Given the description of an element on the screen output the (x, y) to click on. 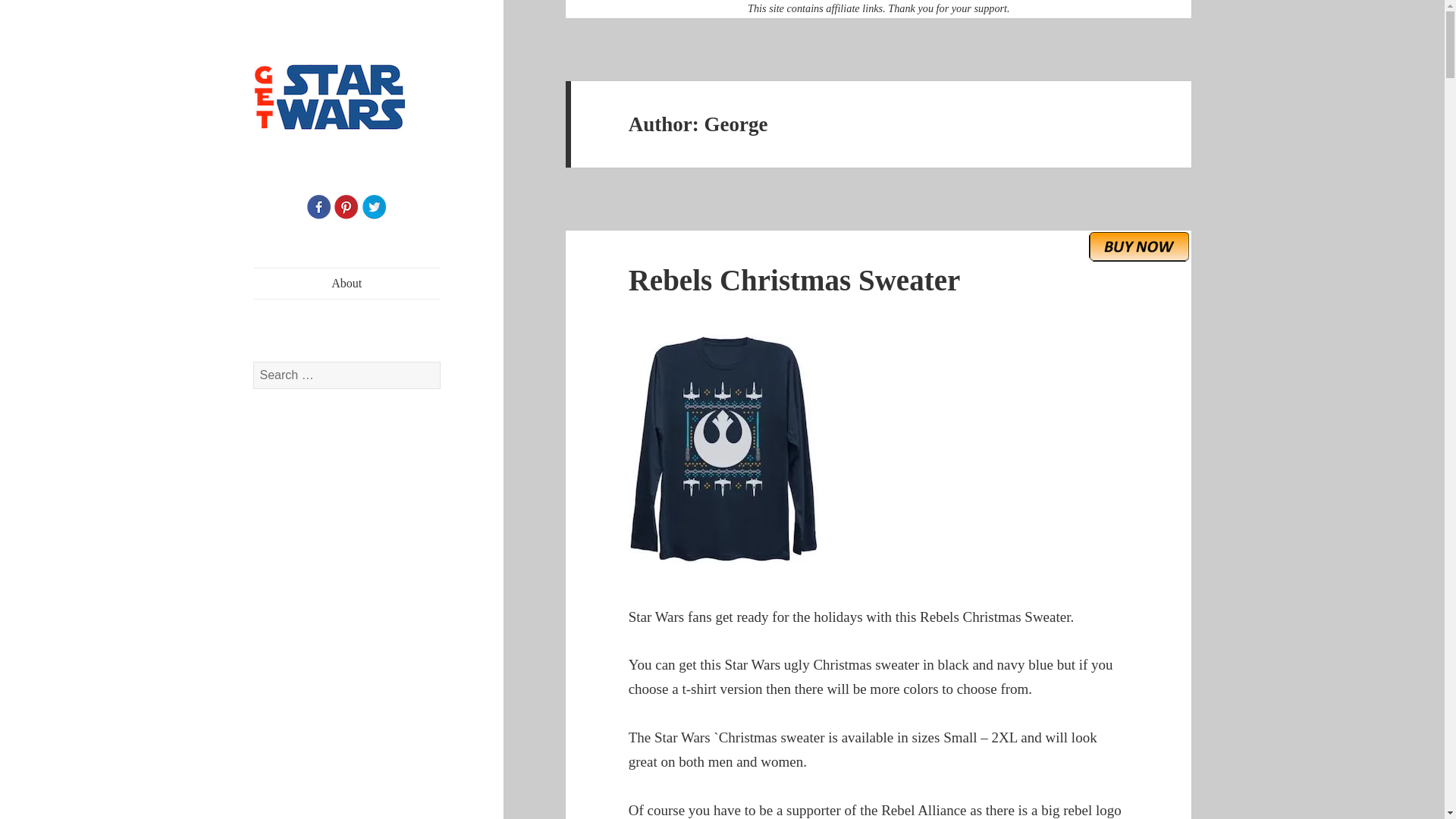
Rebels Christmas Sweater (794, 279)
About (347, 283)
buy Rebels Christmas Sweater (1139, 246)
